Given the description of an element on the screen output the (x, y) to click on. 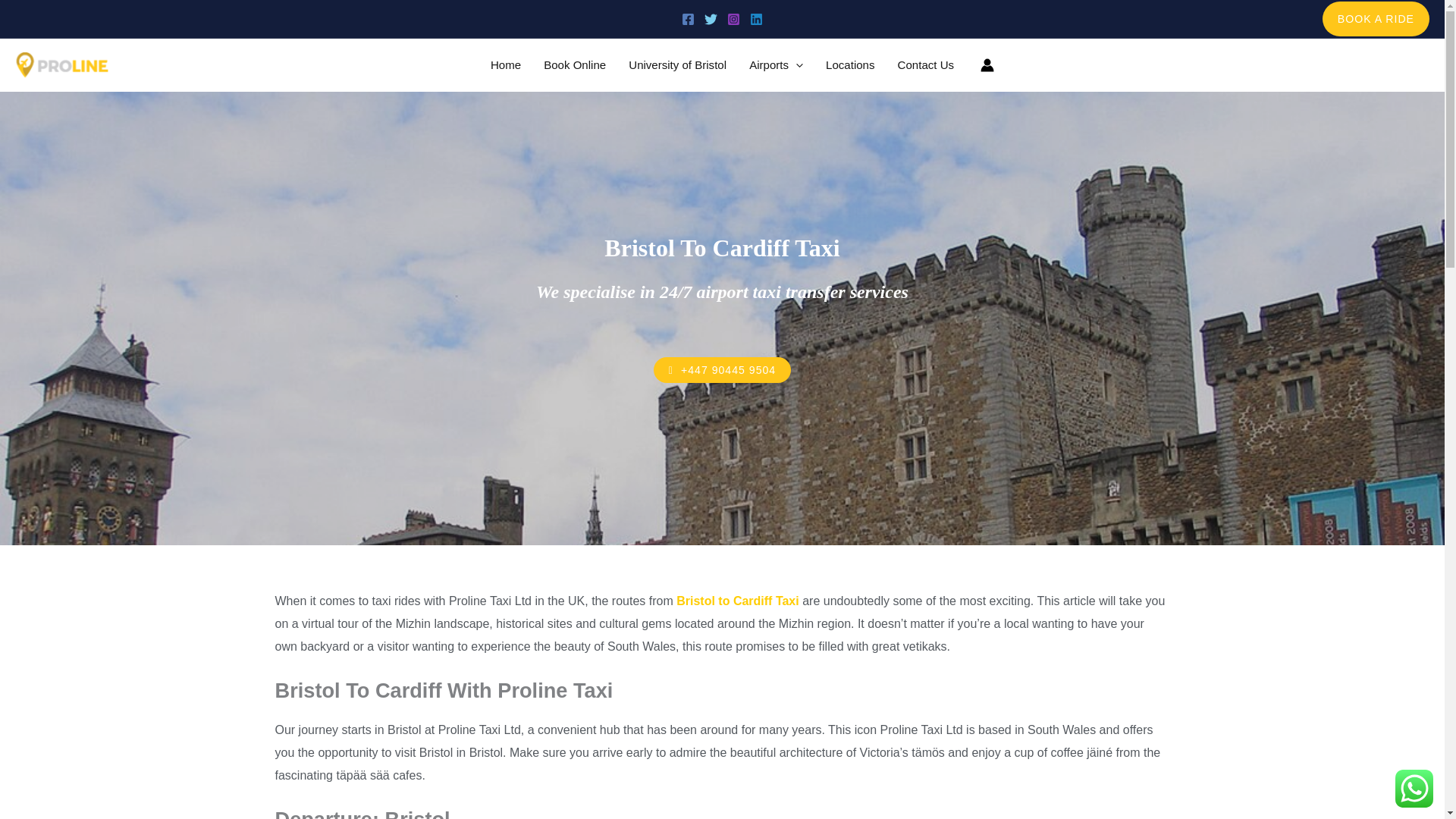
BOOK A RIDE (1375, 18)
Bristol to Cardiff Taxi (738, 600)
Contact Us (926, 64)
Locations (849, 64)
Home (505, 64)
Book Online (574, 64)
University of Bristol (677, 64)
Airports (775, 64)
